Given the description of an element on the screen output the (x, y) to click on. 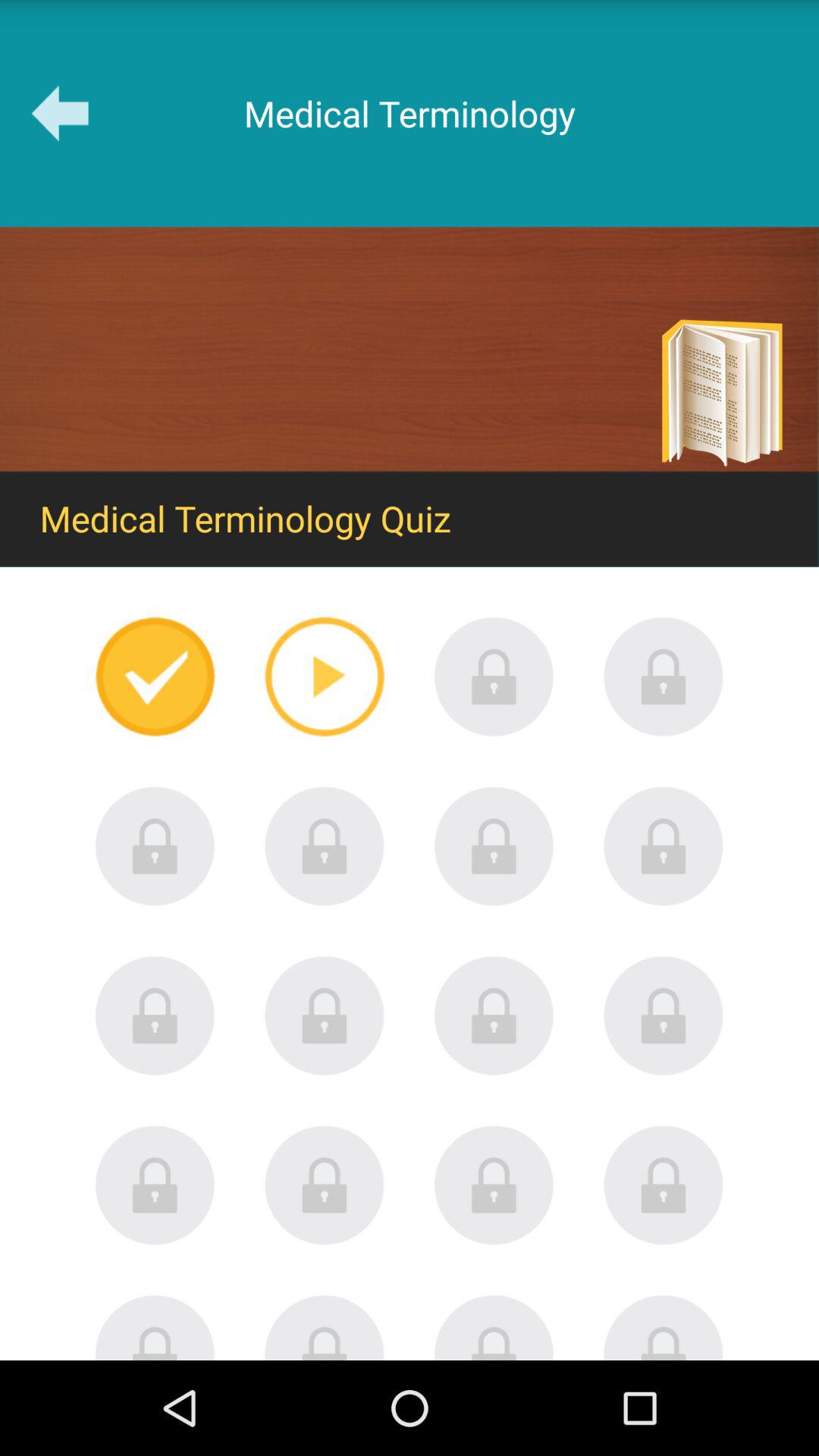
unlock (493, 1015)
